Given the description of an element on the screen output the (x, y) to click on. 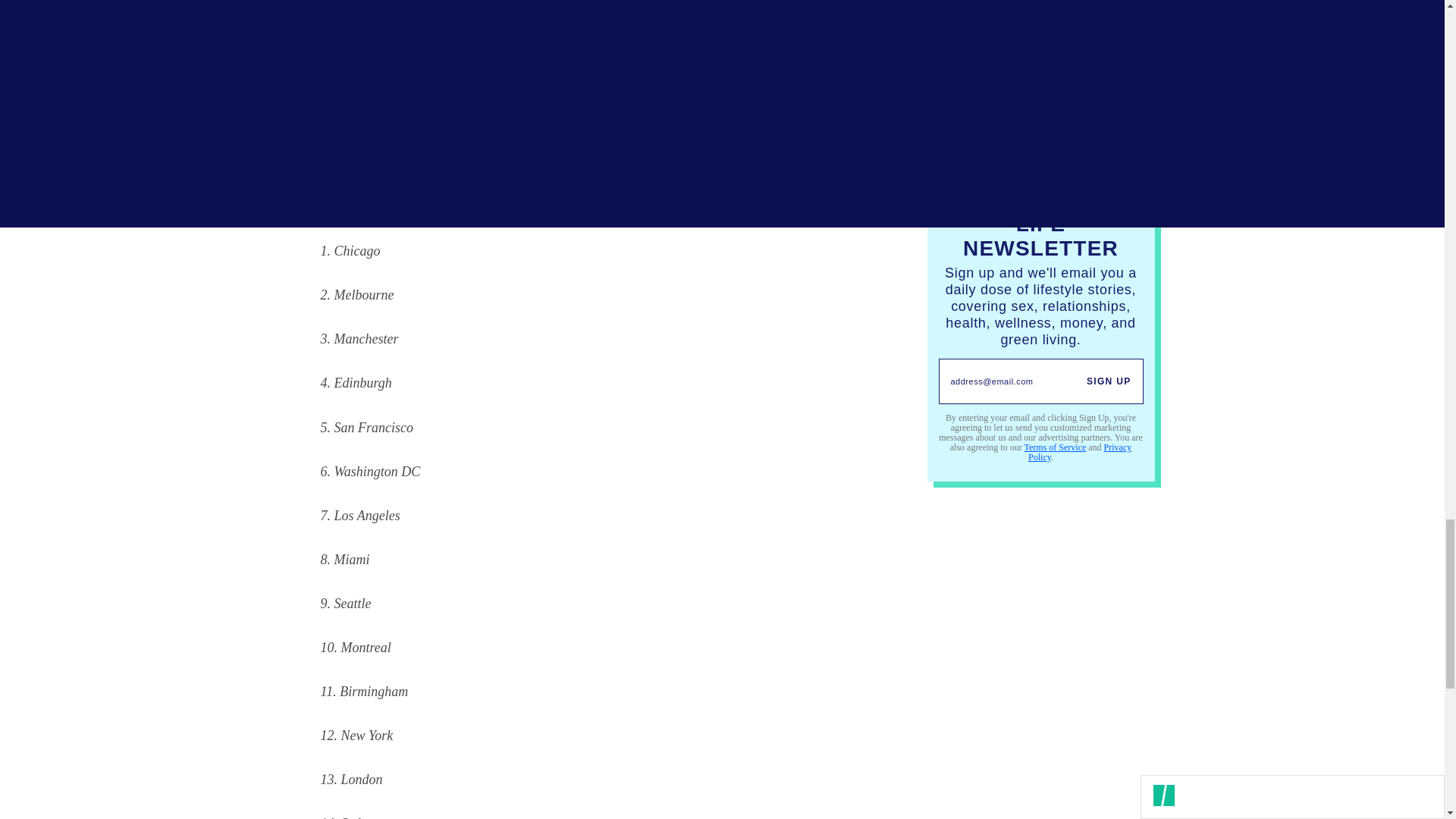
SIGN UP (1108, 381)
